Given the description of an element on the screen output the (x, y) to click on. 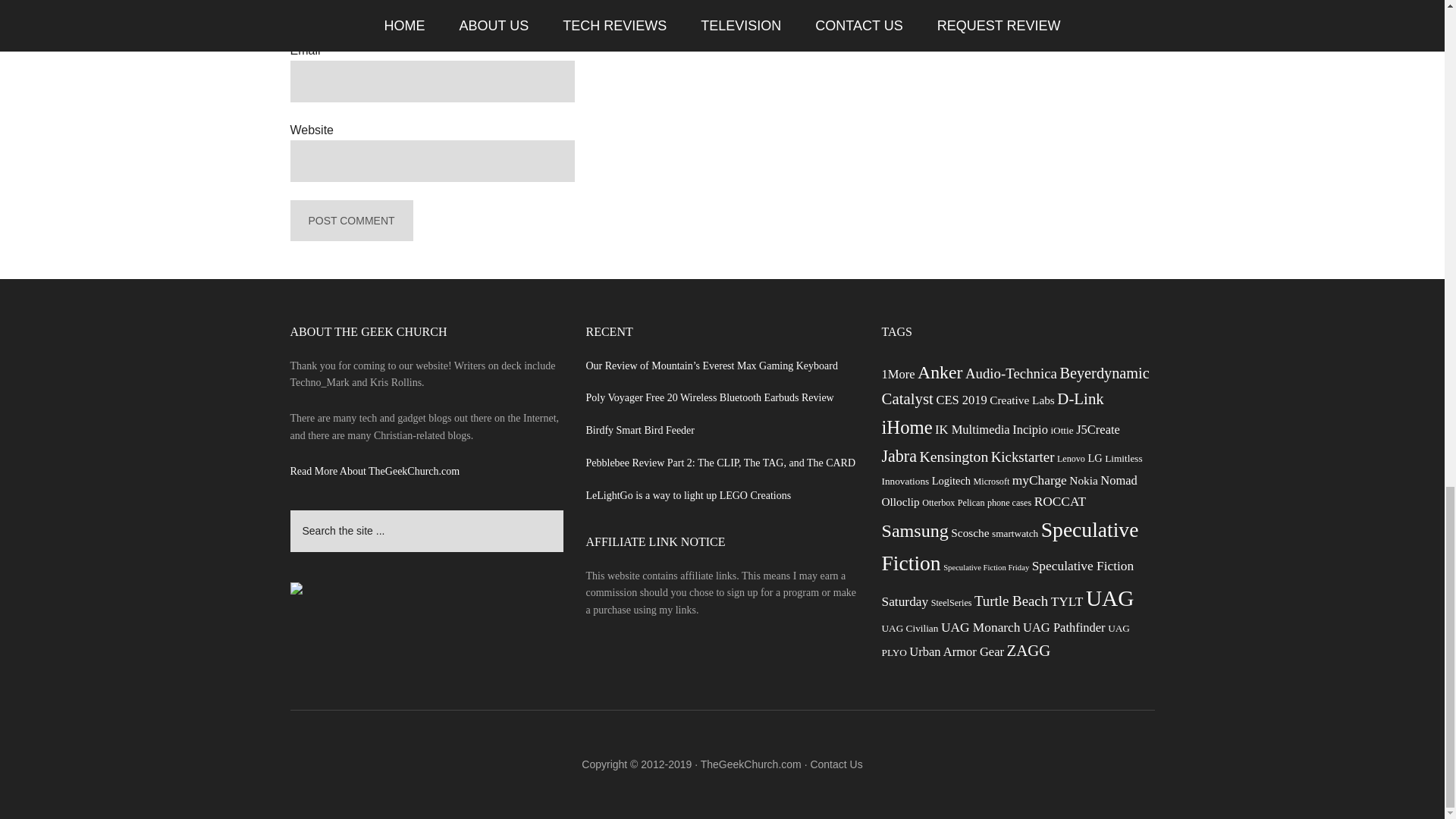
Post Comment (350, 220)
Post Comment (350, 220)
